Given the description of an element on the screen output the (x, y) to click on. 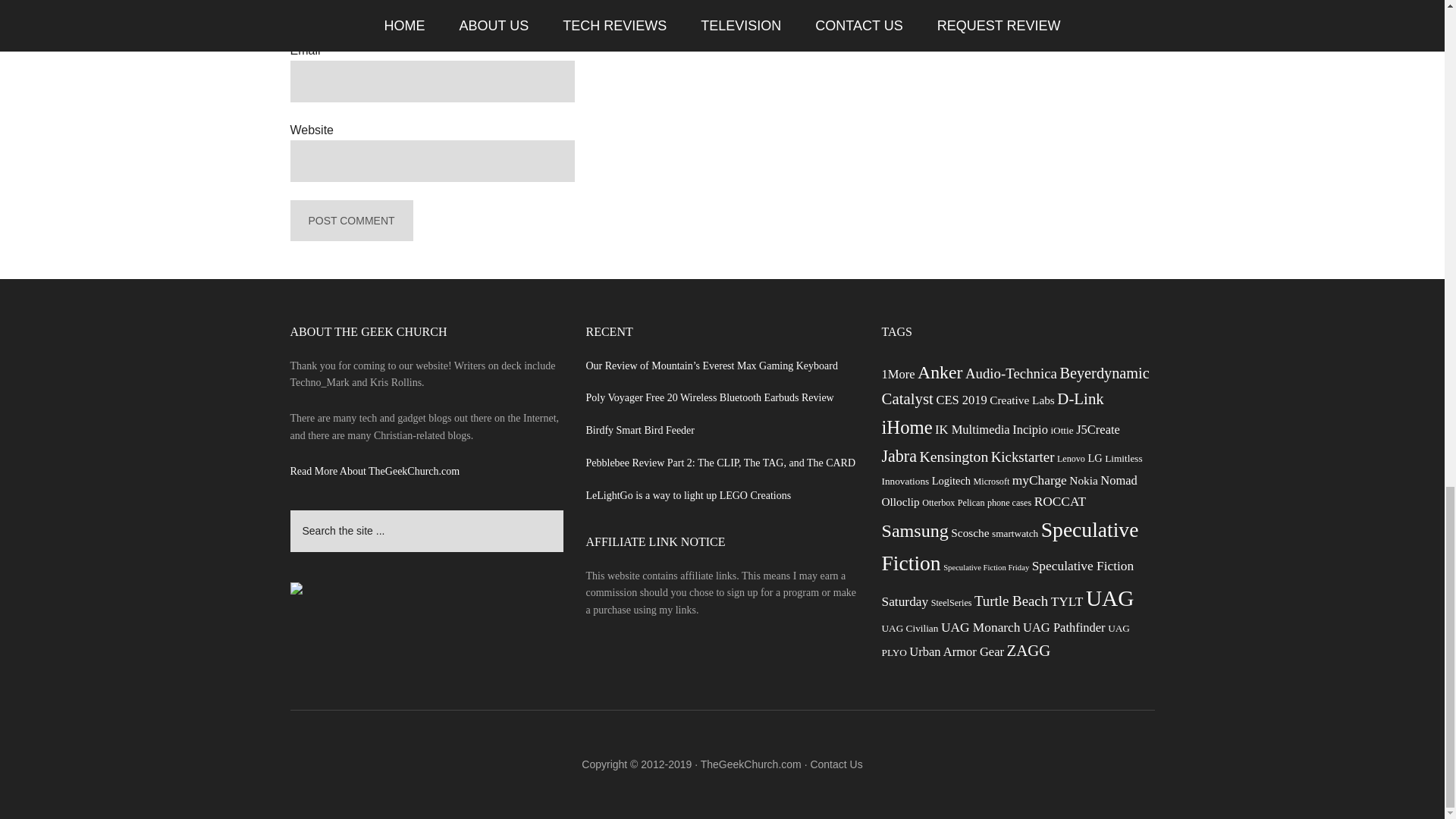
Post Comment (350, 220)
Post Comment (350, 220)
